Given the description of an element on the screen output the (x, y) to click on. 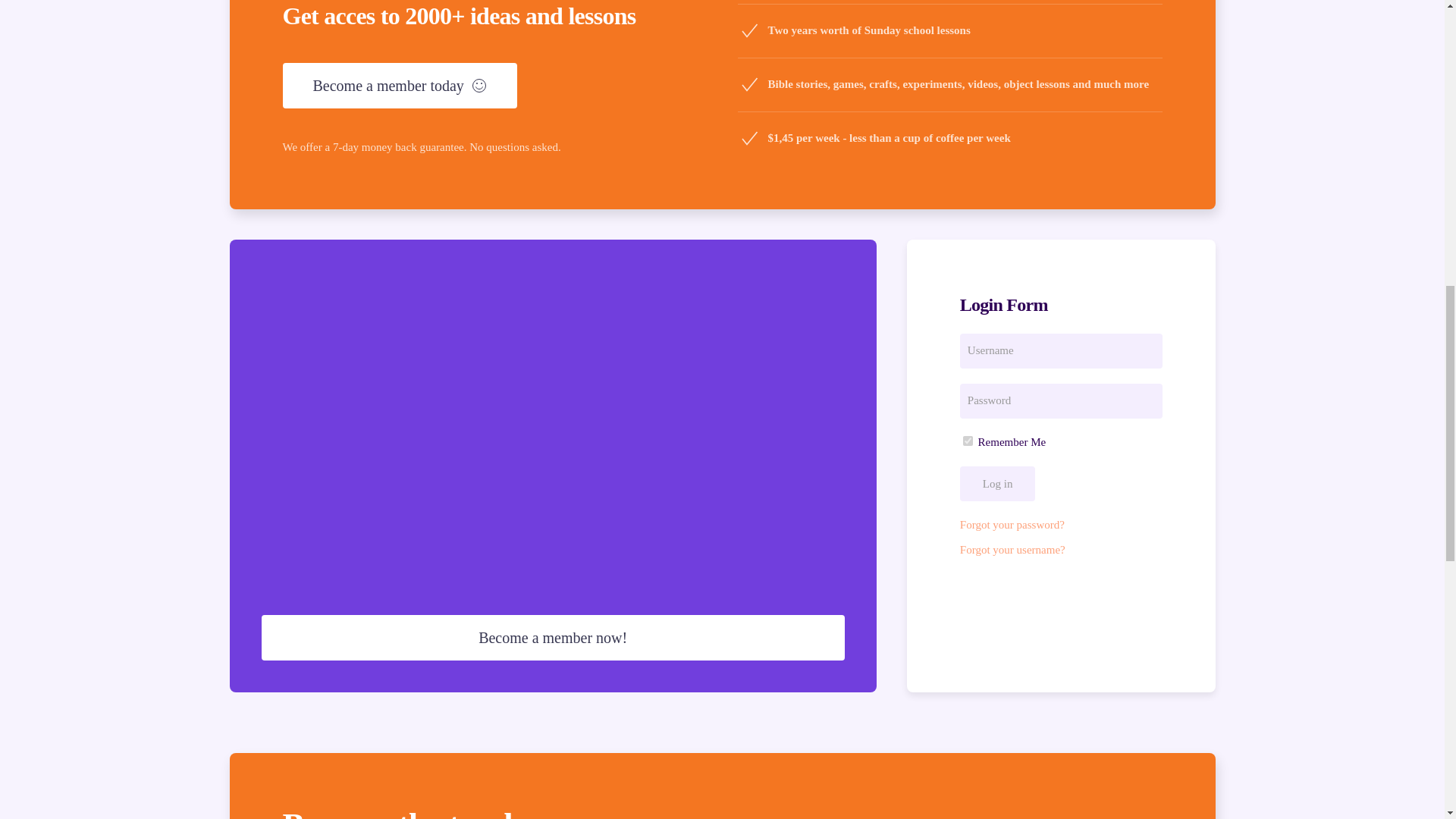
yes (967, 440)
